Given the description of an element on the screen output the (x, y) to click on. 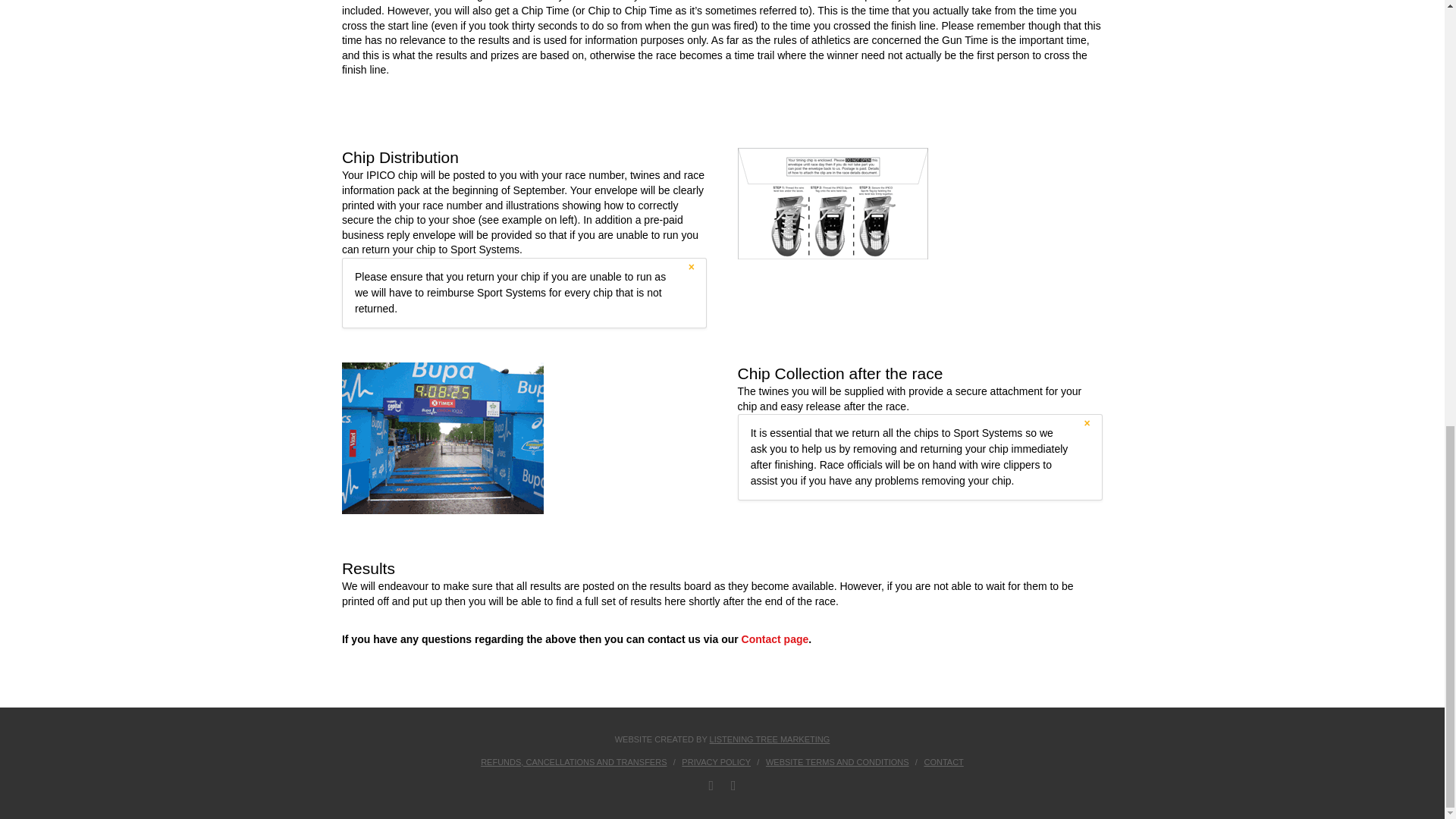
WEBSITE TERMS AND CONDITIONS (836, 761)
PRIVACY POLICY (716, 761)
Contact page (775, 639)
LISTENING TREE MARKETING (769, 738)
REFUNDS, CANCELLATIONS AND TRANSFERS (573, 761)
